Given the description of an element on the screen output the (x, y) to click on. 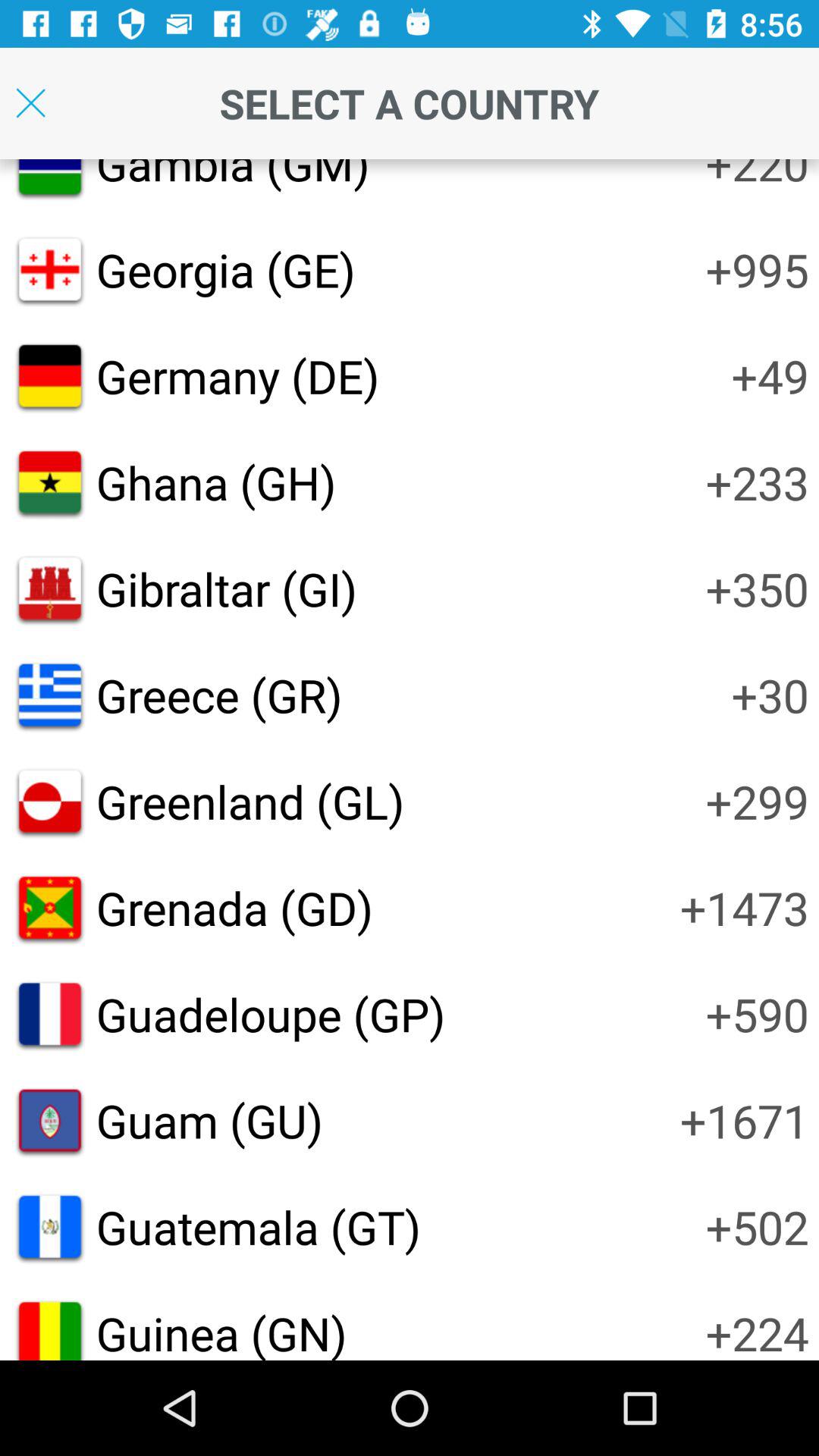
click close option (30, 103)
